Given the description of an element on the screen output the (x, y) to click on. 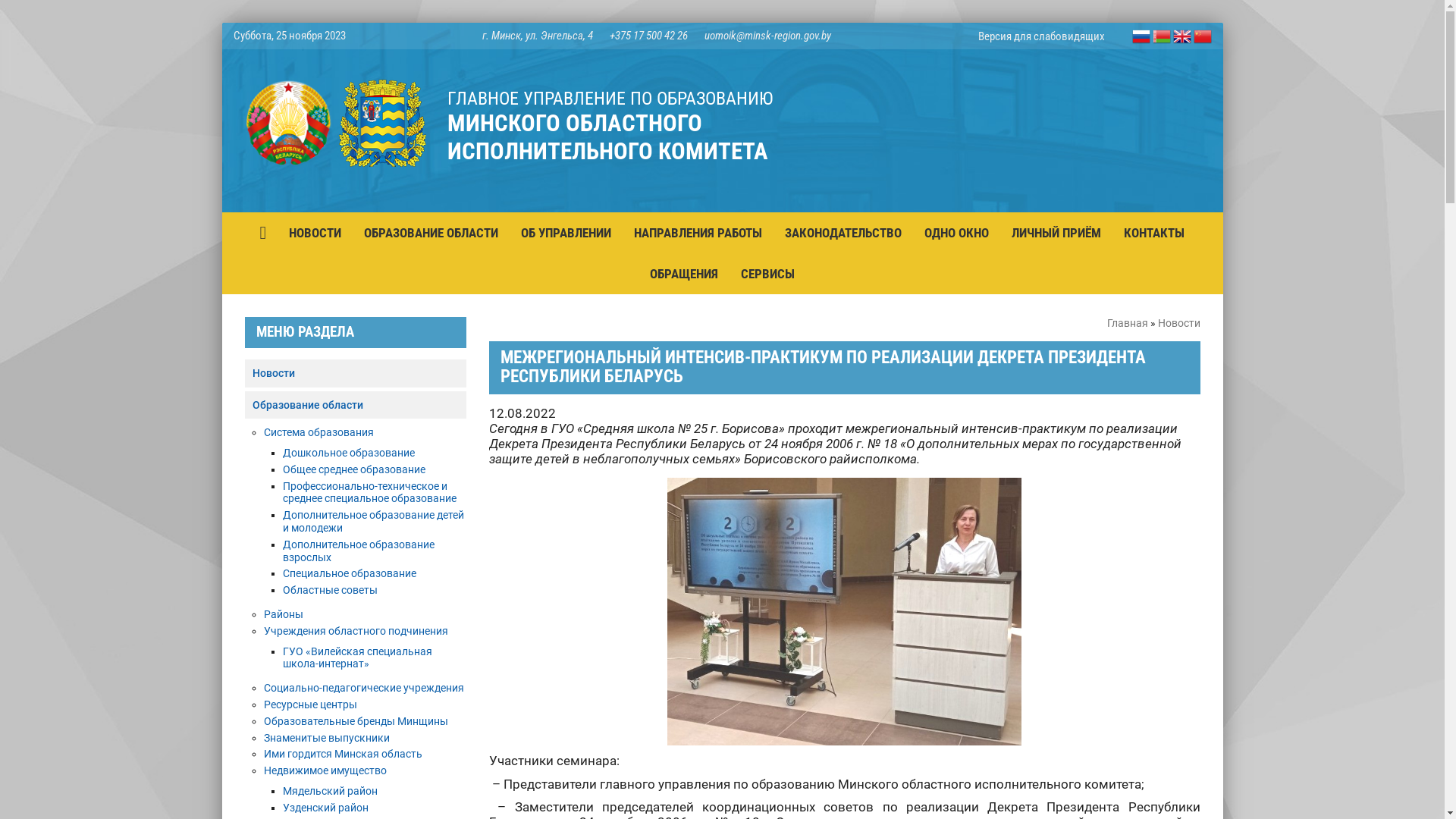
+375 17 500 42 26 Element type: text (648, 35)
